Given the description of an element on the screen output the (x, y) to click on. 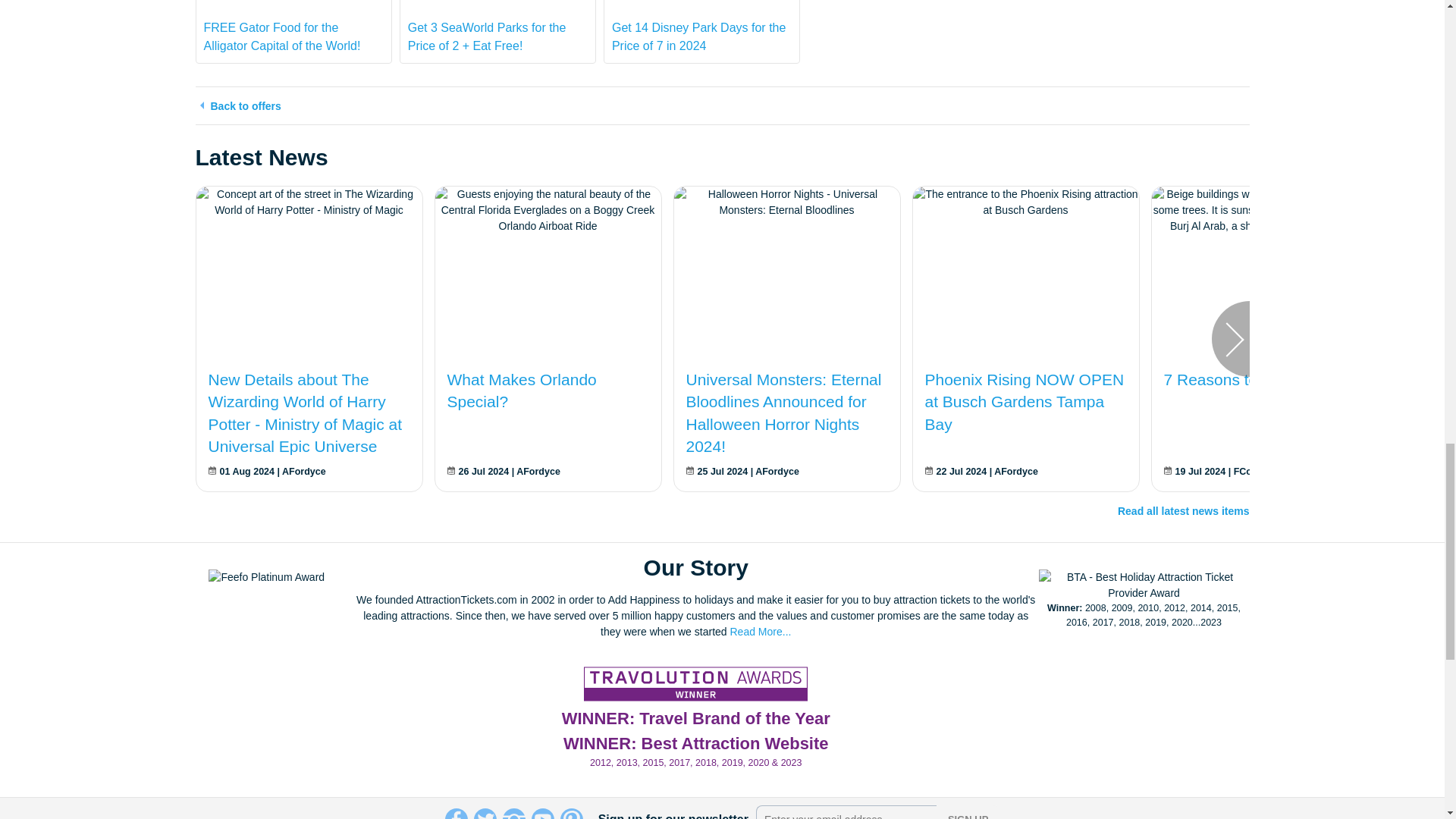
The Wizarding World of Harry Potter - Ministry of Magic (308, 202)
Burj Al Arab (1264, 210)
Phoenix Rising at Busch Gardens Tampa Bay (1025, 202)
SIGN UP (967, 812)
